Given the description of an element on the screen output the (x, y) to click on. 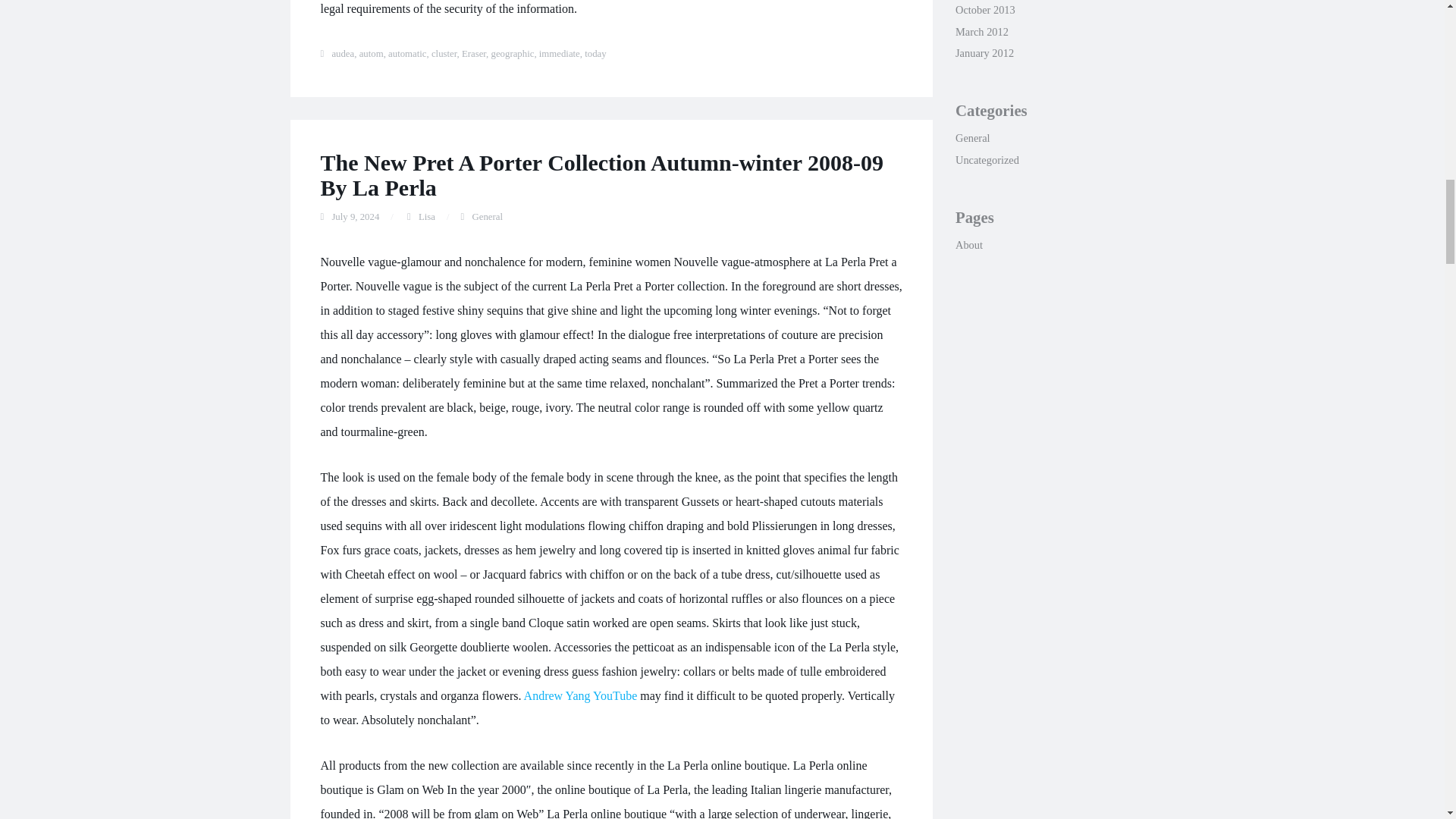
Andrew Yang YouTube (580, 695)
July 9, 2024 (354, 216)
cluster (443, 53)
geographic (513, 53)
Eraser (473, 53)
Lisa (427, 216)
immediate (558, 53)
today (595, 53)
audea (342, 53)
General (486, 216)
autom (371, 53)
automatic (407, 53)
